Given the description of an element on the screen output the (x, y) to click on. 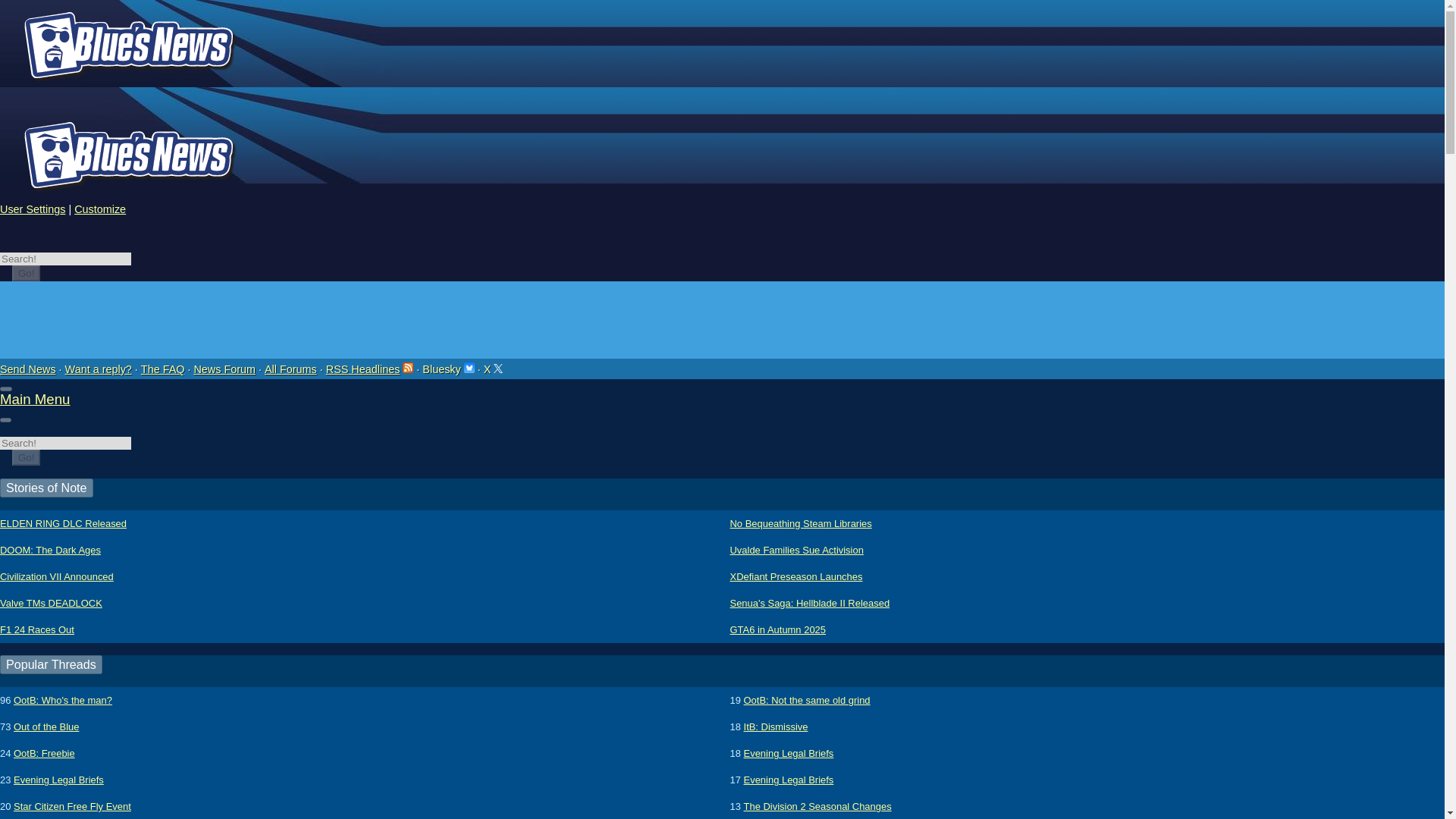
Uvalde Families Sue Activision (796, 550)
Evening Legal Briefs (789, 753)
Senua's Saga: Hellblade II Released (809, 602)
Stories of Note (46, 487)
Send News (28, 369)
News Forum (224, 369)
OotB: Freebie (44, 753)
Valve TMs DEADLOCK (50, 602)
Blue's News! (126, 140)
Customize (99, 209)
ItB: Dismissive (776, 726)
RSS (408, 367)
Go! (25, 273)
Bluesky  (448, 369)
DOOM: The Dark Ages (50, 550)
